Given the description of an element on the screen output the (x, y) to click on. 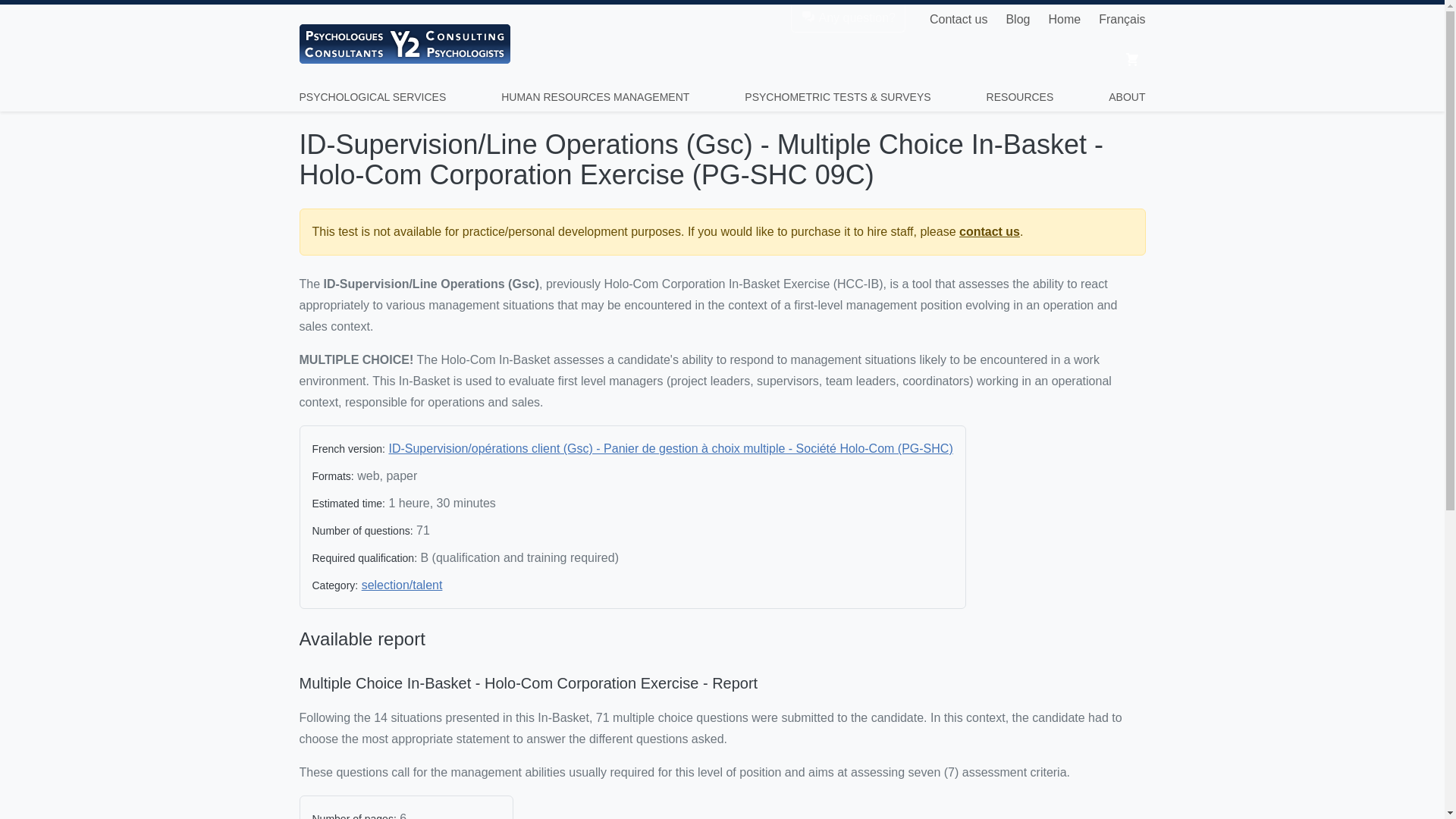
Cart (1131, 58)
HUMAN RESOURCES MANAGEMENT (594, 97)
PSYCHOLOGICAL SERVICES (371, 97)
About Y2 Consulting Psychologists (1126, 97)
Any question? (847, 18)
Contact us (958, 19)
Blog (1017, 19)
Home (1064, 19)
